Given the description of an element on the screen output the (x, y) to click on. 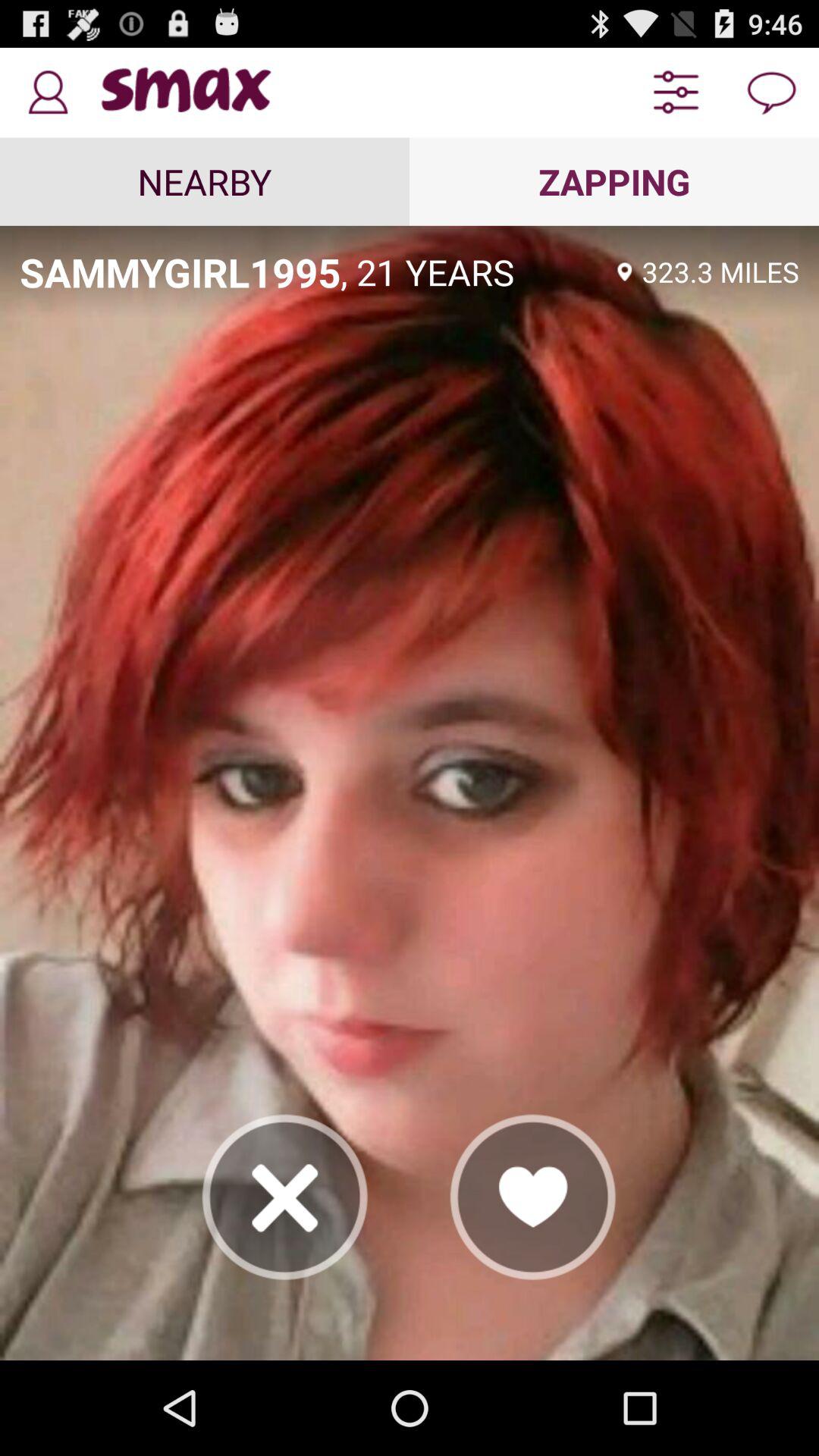
turn off icon next to the zapping icon (204, 181)
